Given the description of an element on the screen output the (x, y) to click on. 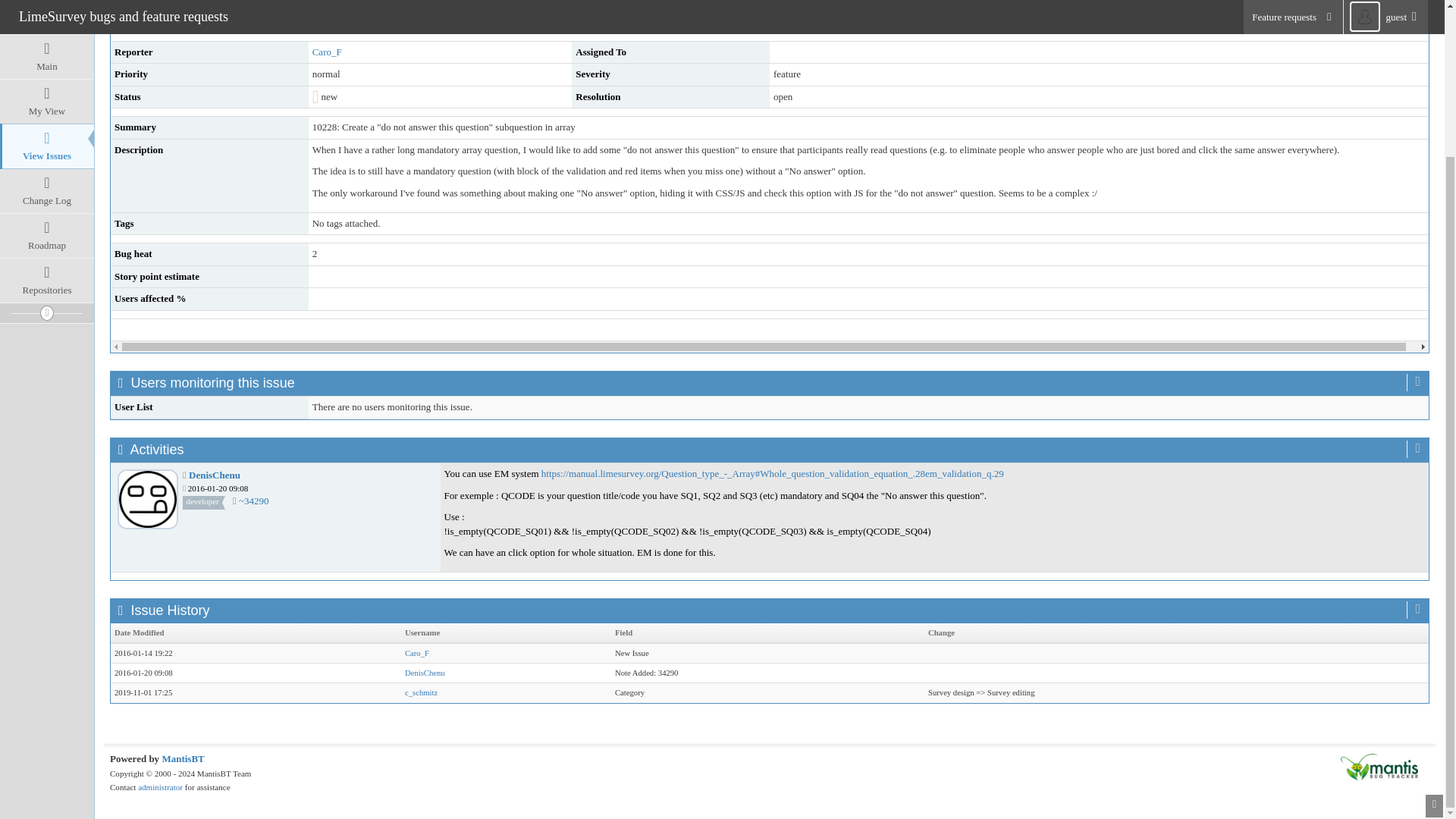
Repositories (47, 96)
MantisBT (182, 758)
DenisChenu (214, 474)
Change Log (47, 14)
administrator (160, 786)
Contact the webmaster via e-mail. (160, 786)
bug tracking software (182, 758)
DenisChenu (424, 673)
Direct link to note (253, 500)
